Given the description of an element on the screen output the (x, y) to click on. 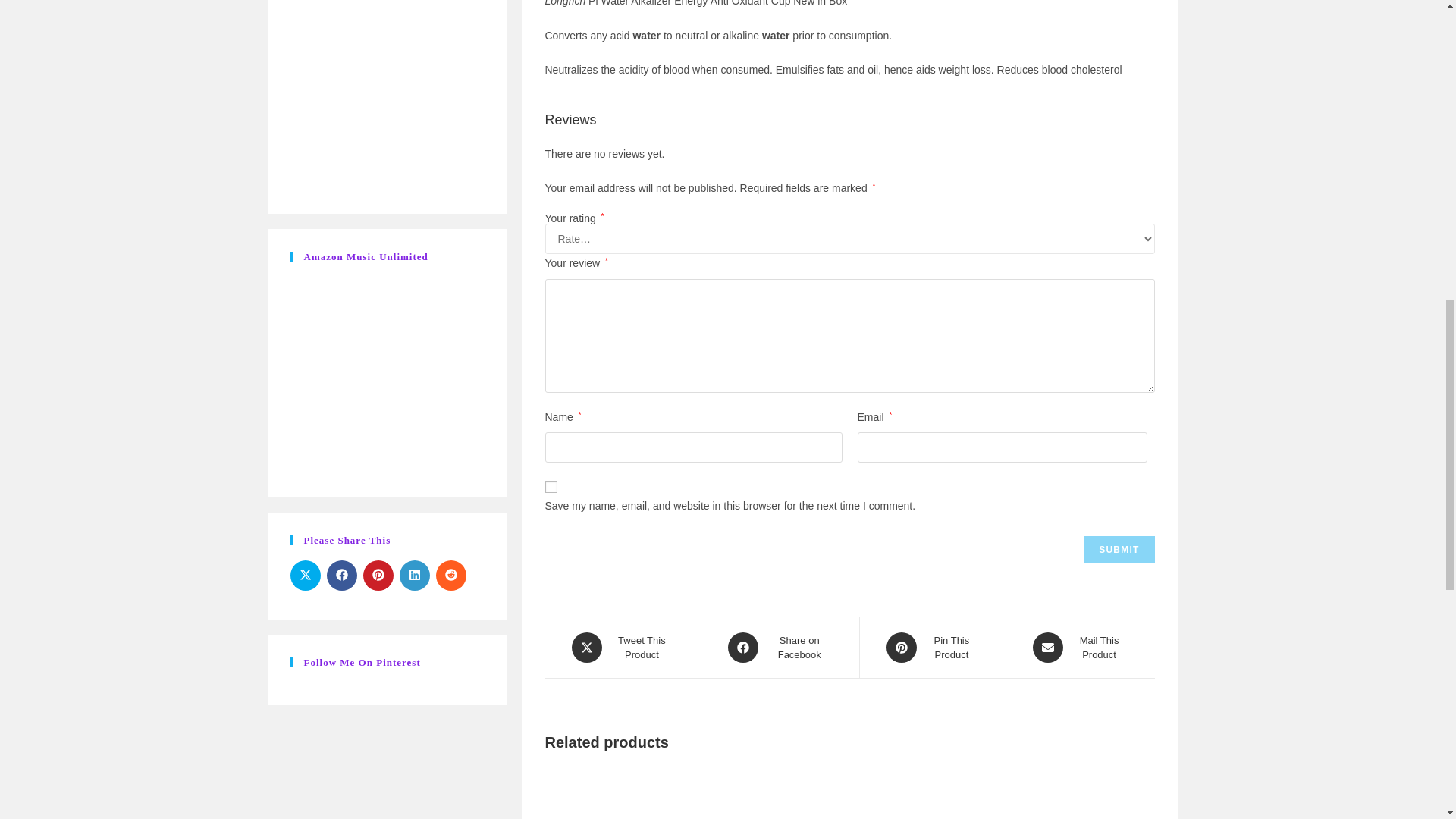
Submit (1118, 549)
Share on Reddit (450, 575)
Share on X (304, 575)
Share on Pinterest (377, 575)
Share on LinkedIn (413, 575)
yes (550, 486)
Share on Facebook (341, 575)
